Given the description of an element on the screen output the (x, y) to click on. 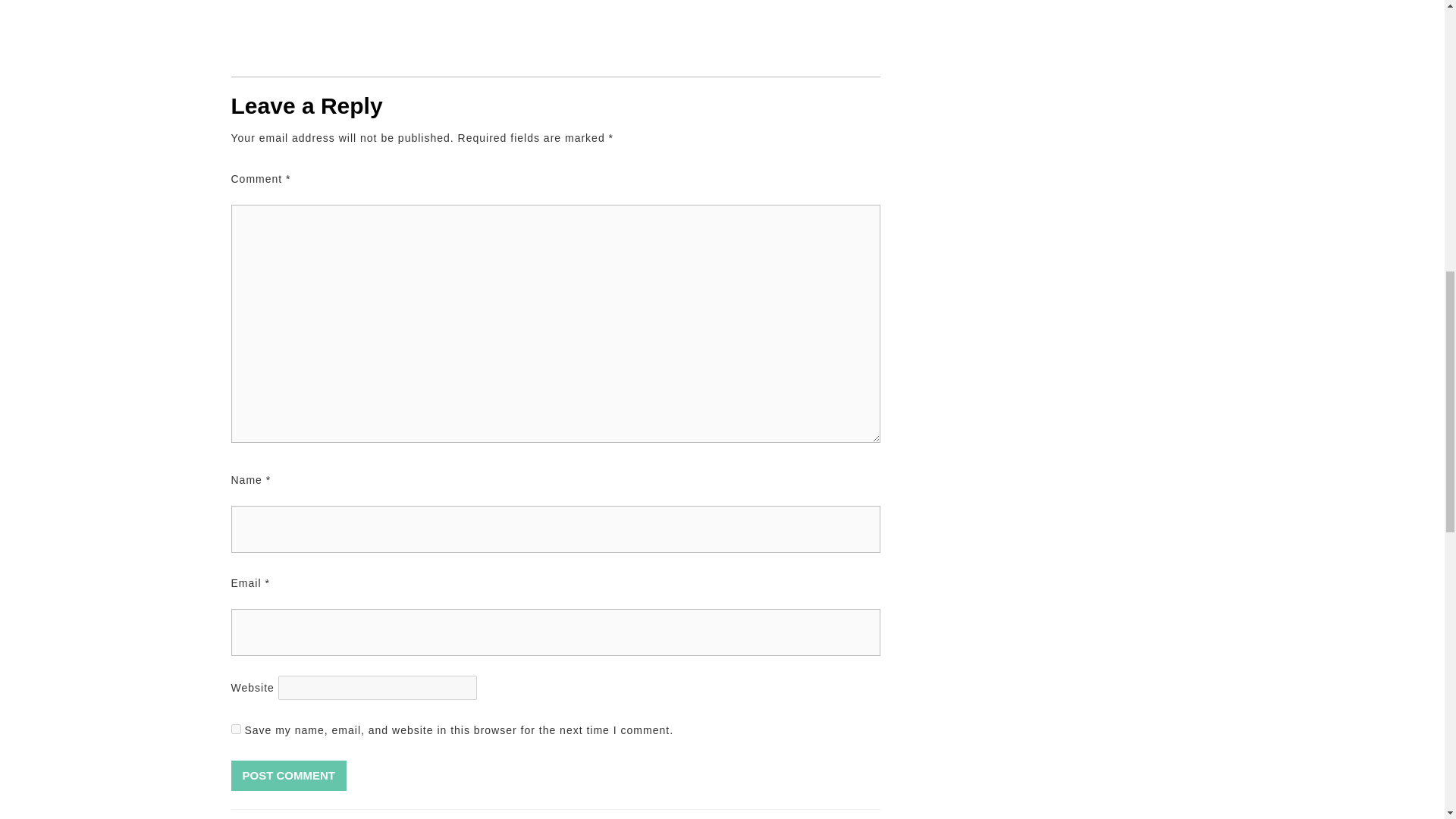
Post Comment (288, 775)
yes (235, 728)
Post Comment (392, 814)
